Given the description of an element on the screen output the (x, y) to click on. 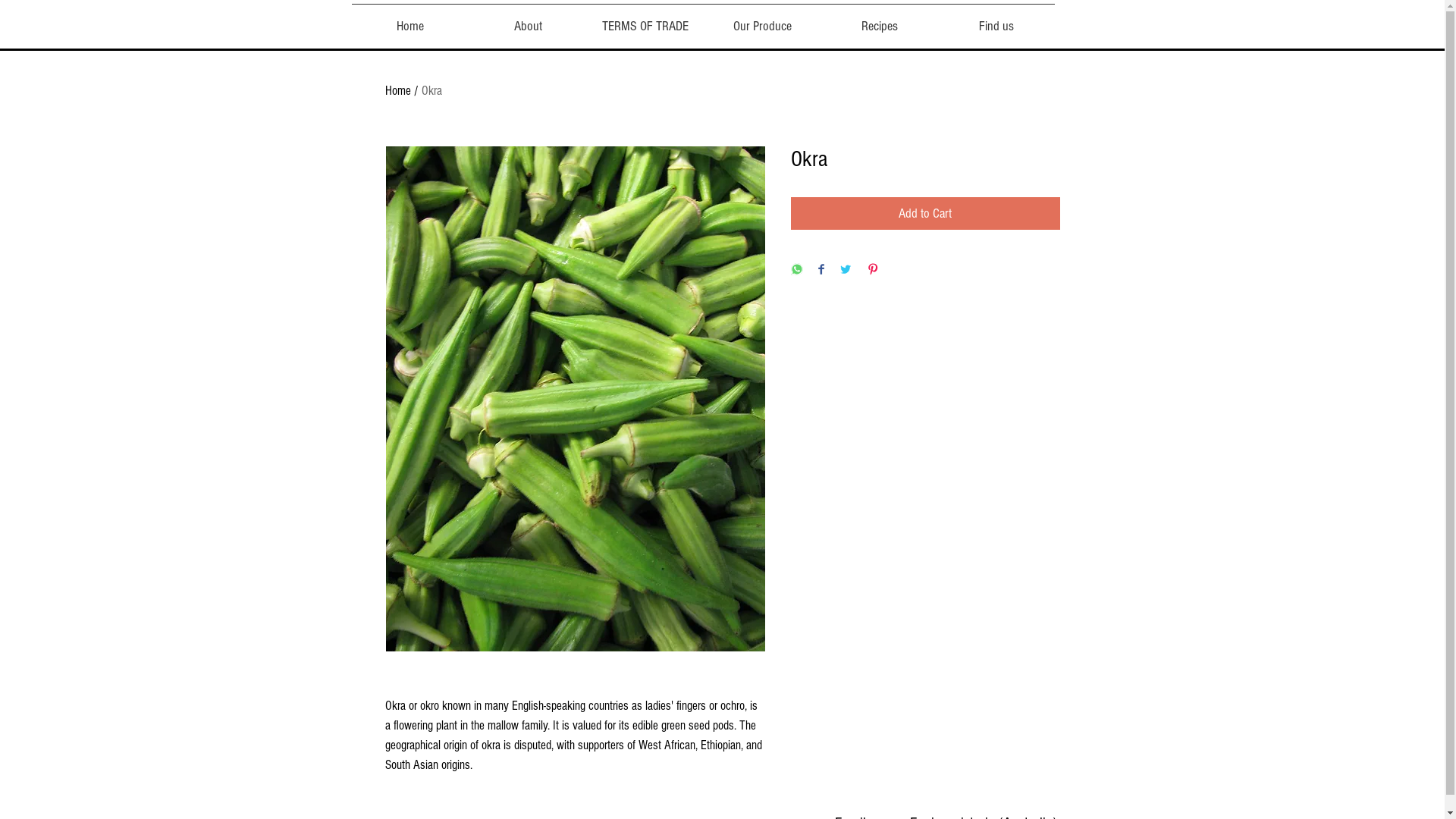
Add to Cart Element type: text (924, 213)
TERMS OF TRADE Element type: text (645, 19)
Okra Element type: text (431, 90)
About Element type: text (527, 19)
Home Element type: text (398, 90)
Find us Element type: text (995, 19)
Home Element type: text (410, 19)
Recipes Element type: text (878, 19)
Our Produce Element type: text (761, 19)
